Given the description of an element on the screen output the (x, y) to click on. 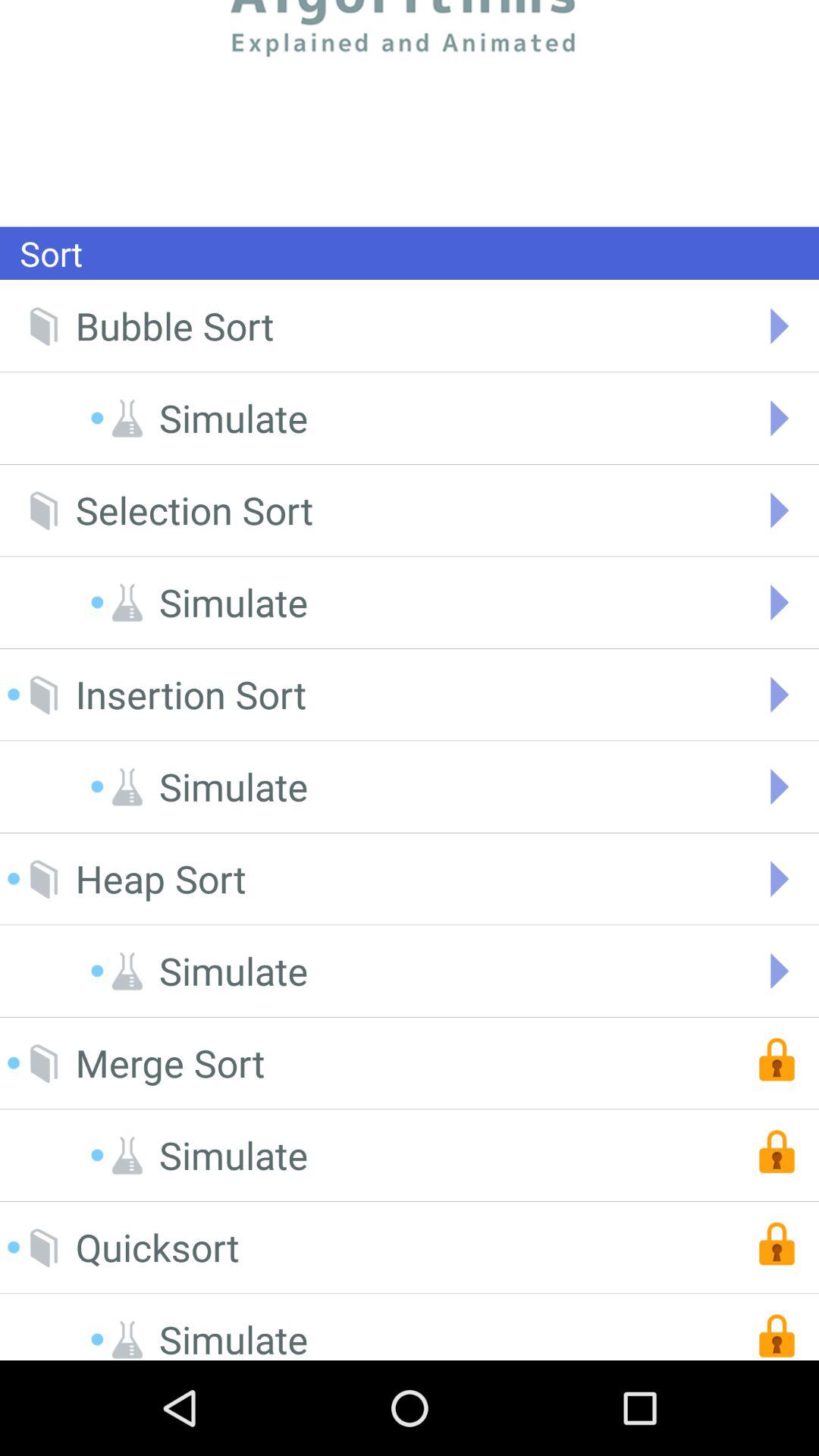
choose icon to the right of the sort item (409, 113)
